Given the description of an element on the screen output the (x, y) to click on. 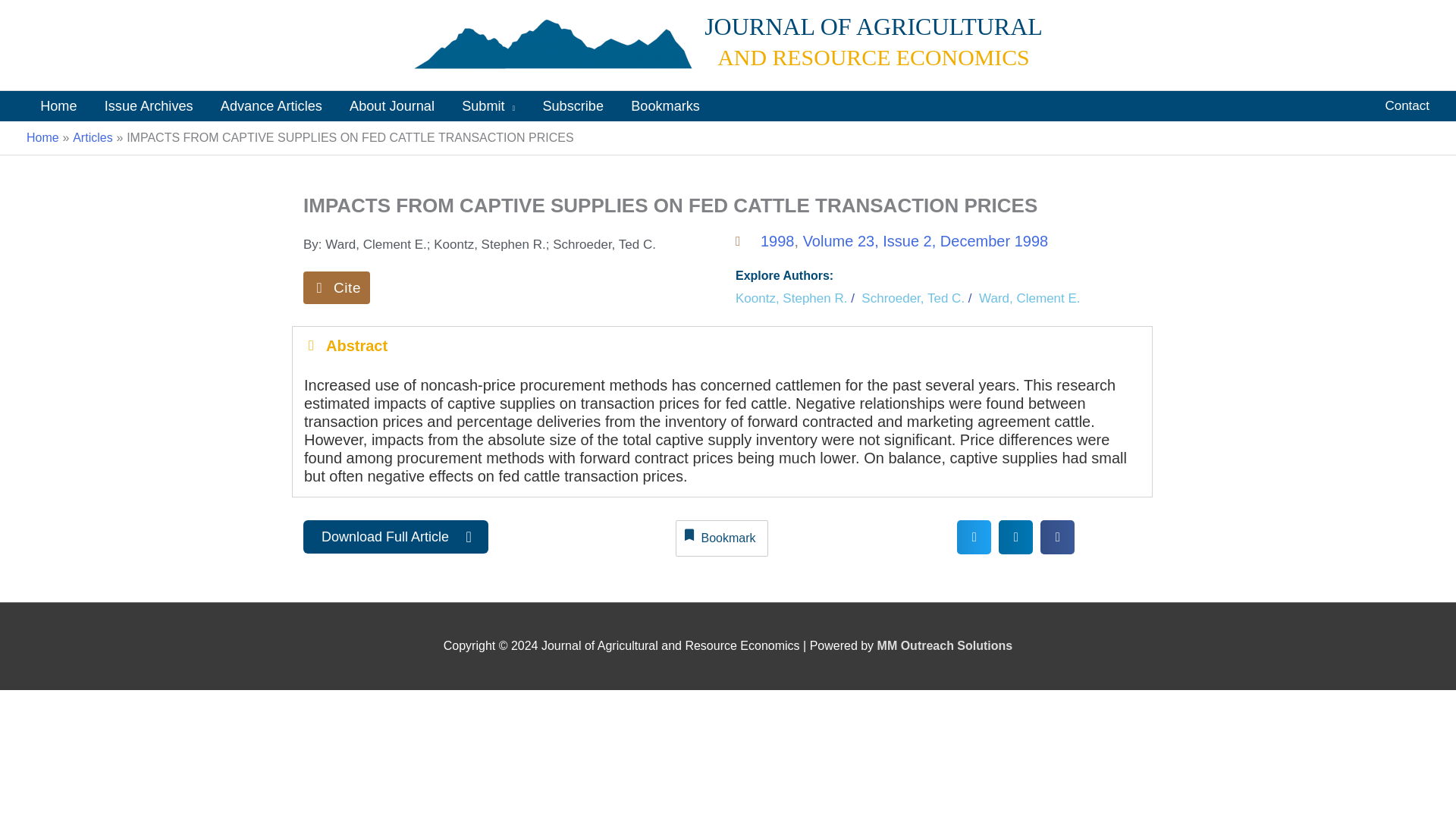
1998 (777, 240)
Issue Archives (148, 105)
Bookmark (721, 538)
Download Full Article (394, 536)
Volume 23, Issue 2, December 1998 (925, 240)
Submit (488, 105)
Contact (1406, 105)
Subscribe (572, 105)
About Journal (392, 105)
JOURNAL OF AGRICULTURAL (873, 26)
Home (58, 105)
Advance Articles (271, 105)
Bookmarks (665, 105)
Articles (92, 137)
Home (42, 137)
